Given the description of an element on the screen output the (x, y) to click on. 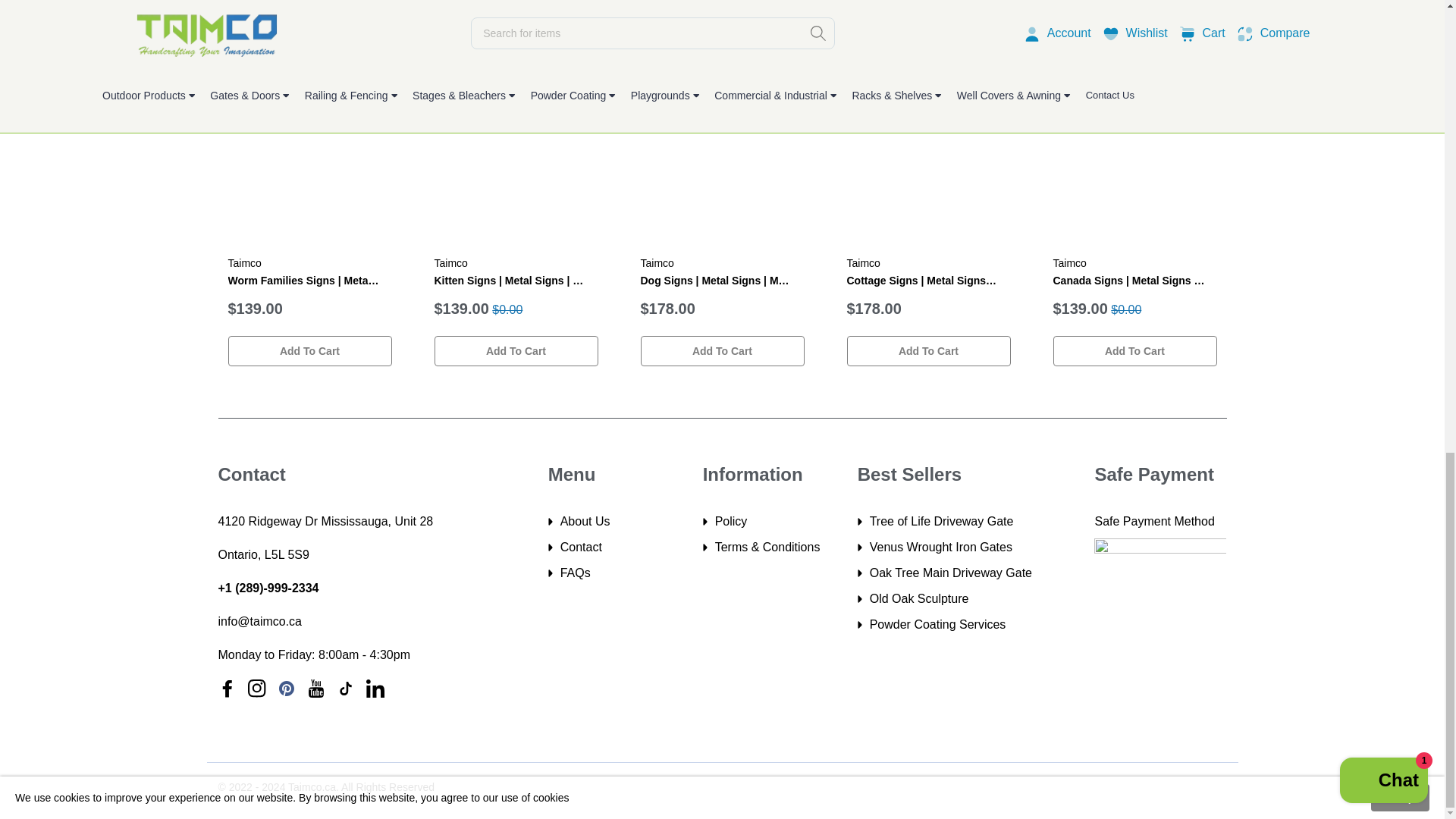
Taimco (656, 263)
Taimco (450, 263)
Taimco (243, 263)
Taimco (862, 263)
Taimco (1069, 263)
